Given the description of an element on the screen output the (x, y) to click on. 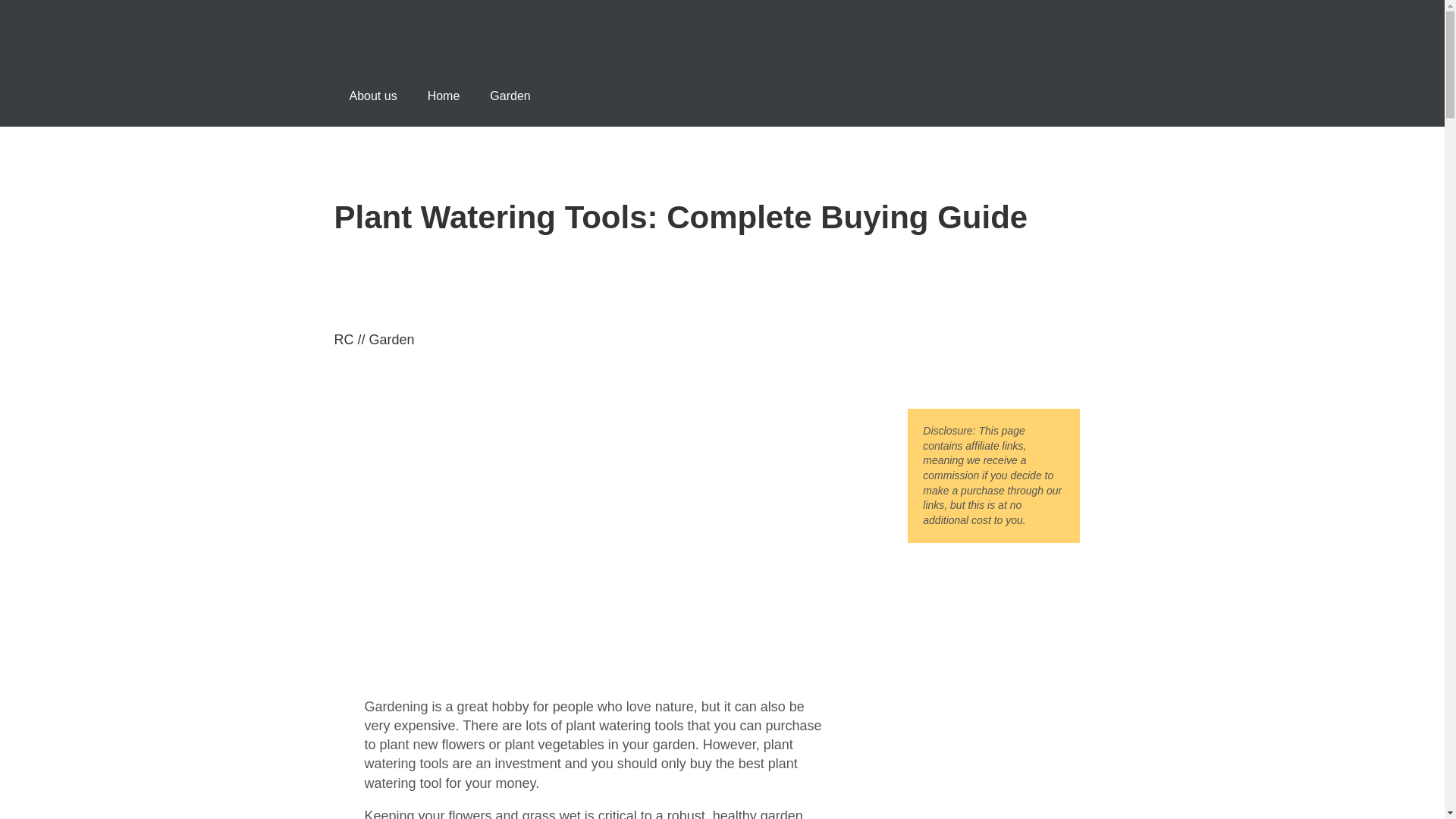
Home (444, 96)
Garden (391, 339)
Which to buy? (408, 30)
Garden (509, 96)
About us (372, 96)
RC (343, 339)
View all posts by RC (343, 339)
Which to buy? (408, 55)
